Given the description of an element on the screen output the (x, y) to click on. 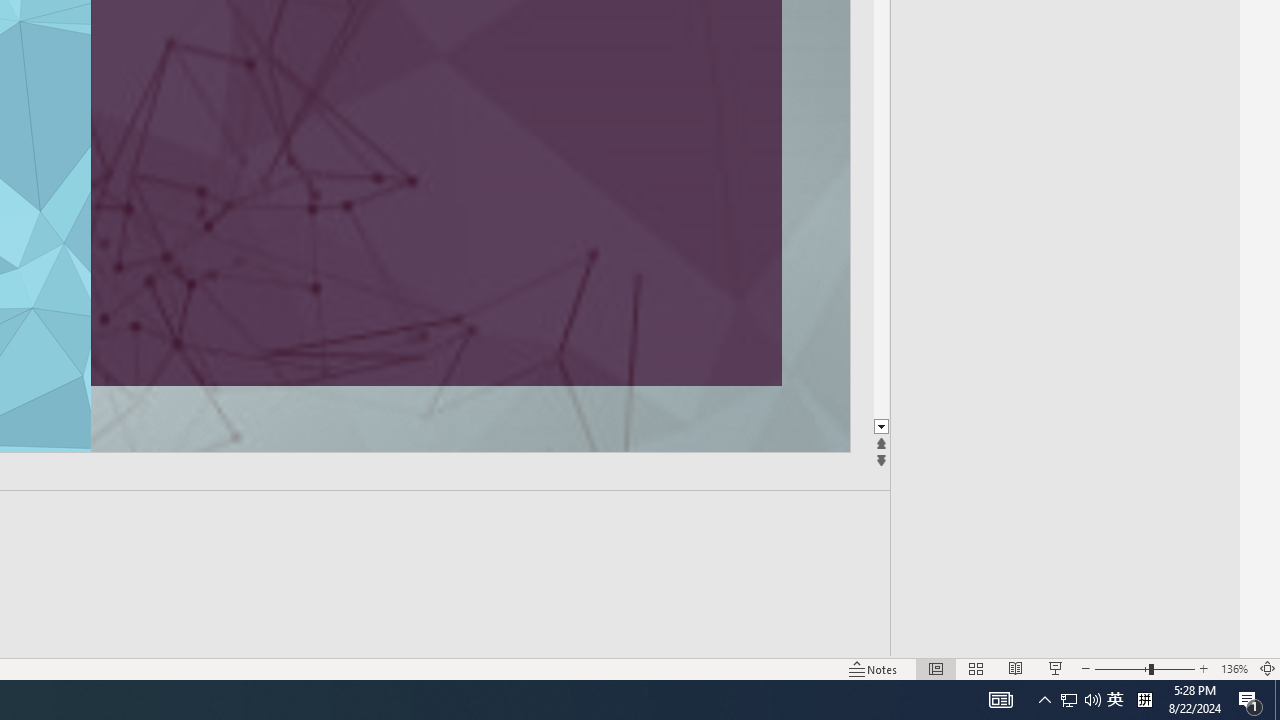
Zoom 136% (1234, 668)
